Given the description of an element on the screen output the (x, y) to click on. 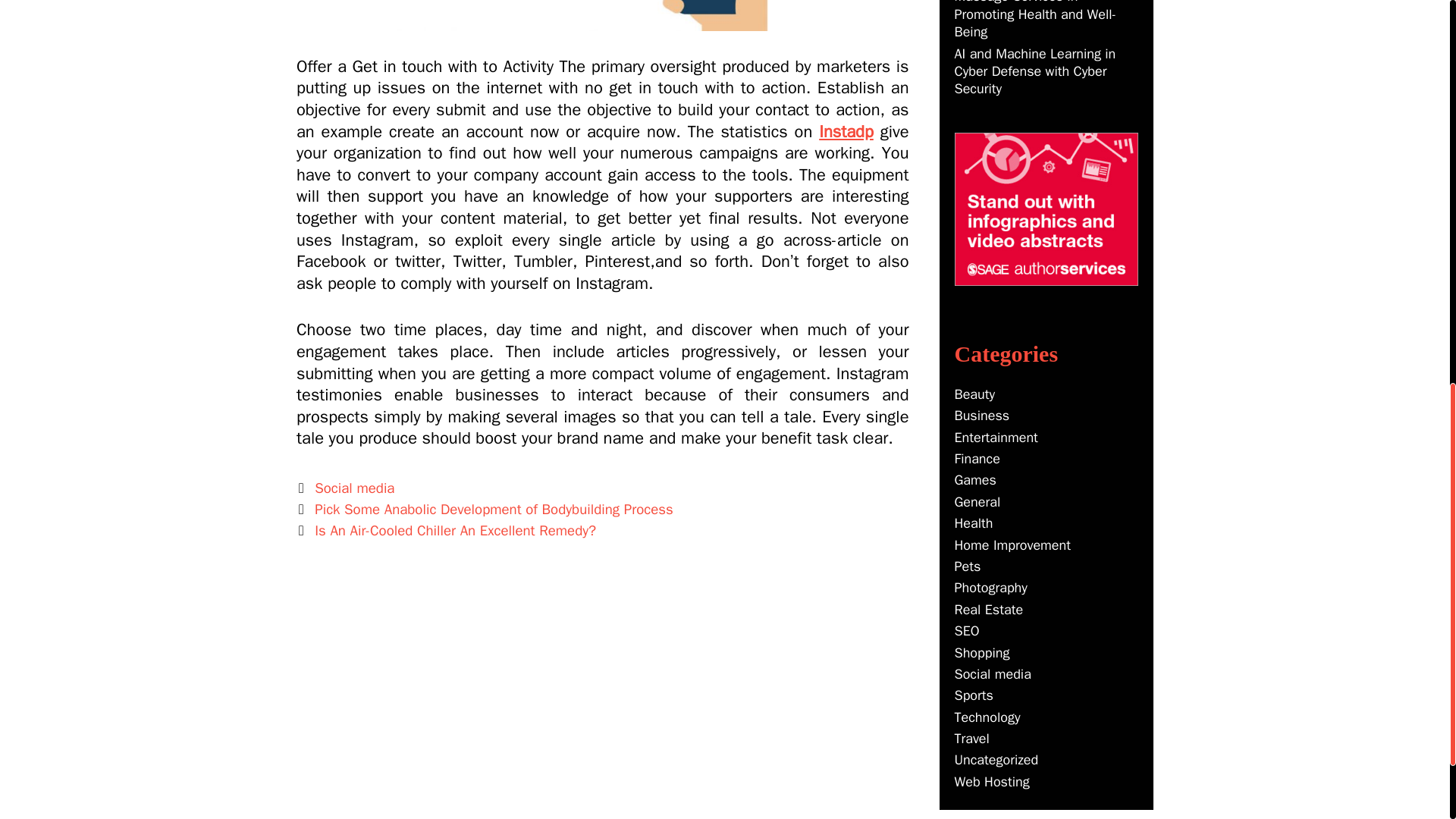
AI and Machine Learning in Cyber Defense with Cyber Security (1034, 71)
Travel (970, 738)
Pets (966, 565)
Social media (354, 488)
Games (974, 479)
Instadp (845, 131)
Next (446, 530)
SEO (965, 630)
Health (972, 523)
Social media (991, 673)
Business (981, 415)
Entertainment (994, 437)
Home Improvement (1011, 545)
Photography (989, 587)
Is An Air-Cooled Chiller An Excellent Remedy? (454, 530)
